Given the description of an element on the screen output the (x, y) to click on. 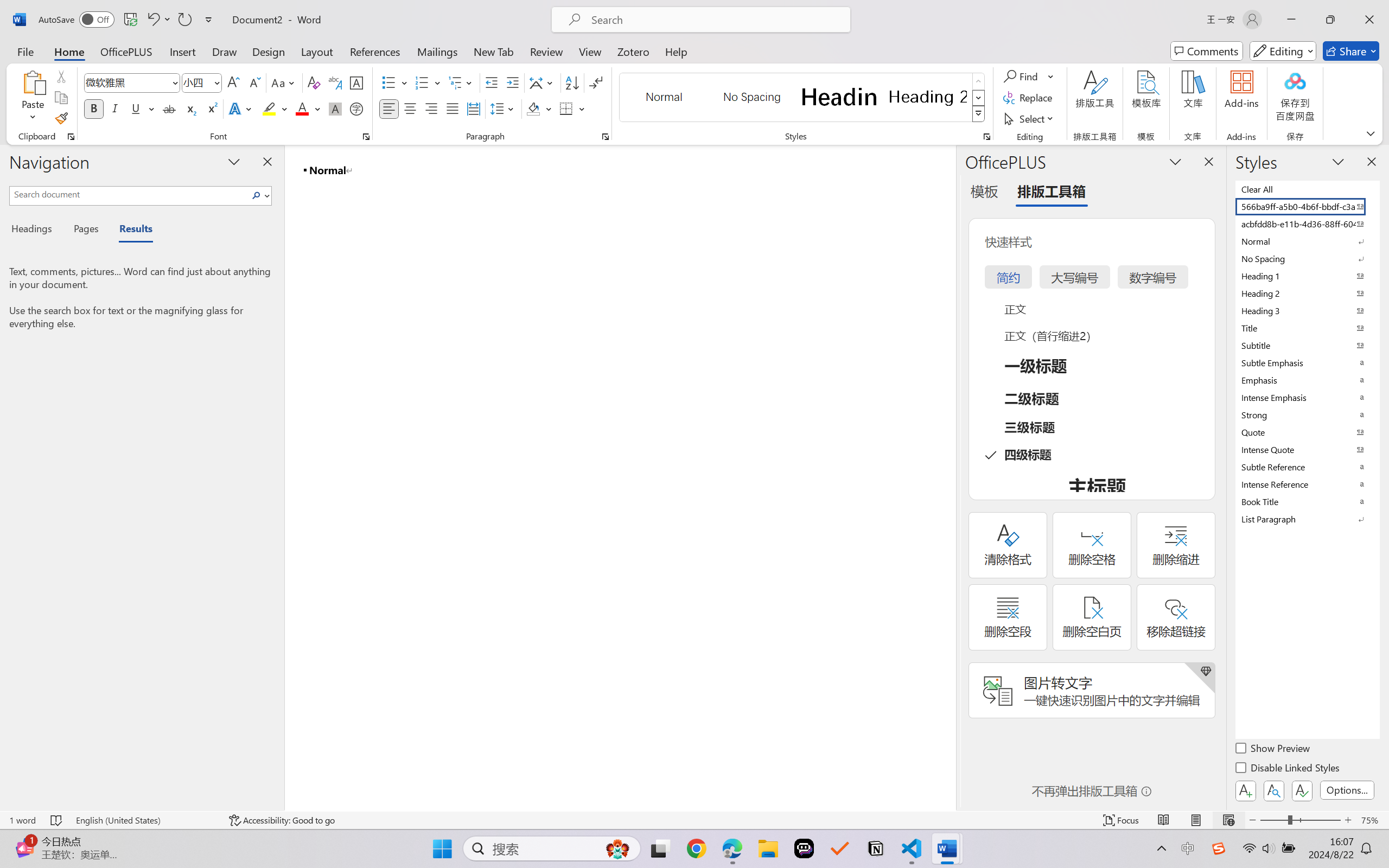
Class: Image (1218, 847)
acbfdd8b-e11b-4d36-88ff-6049b138f862 (1306, 223)
Line and Paragraph Spacing (503, 108)
Shading (539, 108)
New Tab (493, 51)
Numbering (428, 82)
Sort... (571, 82)
Mode (1283, 50)
Zoom (1300, 819)
Pages (85, 229)
Superscript (210, 108)
